Given the description of an element on the screen output the (x, y) to click on. 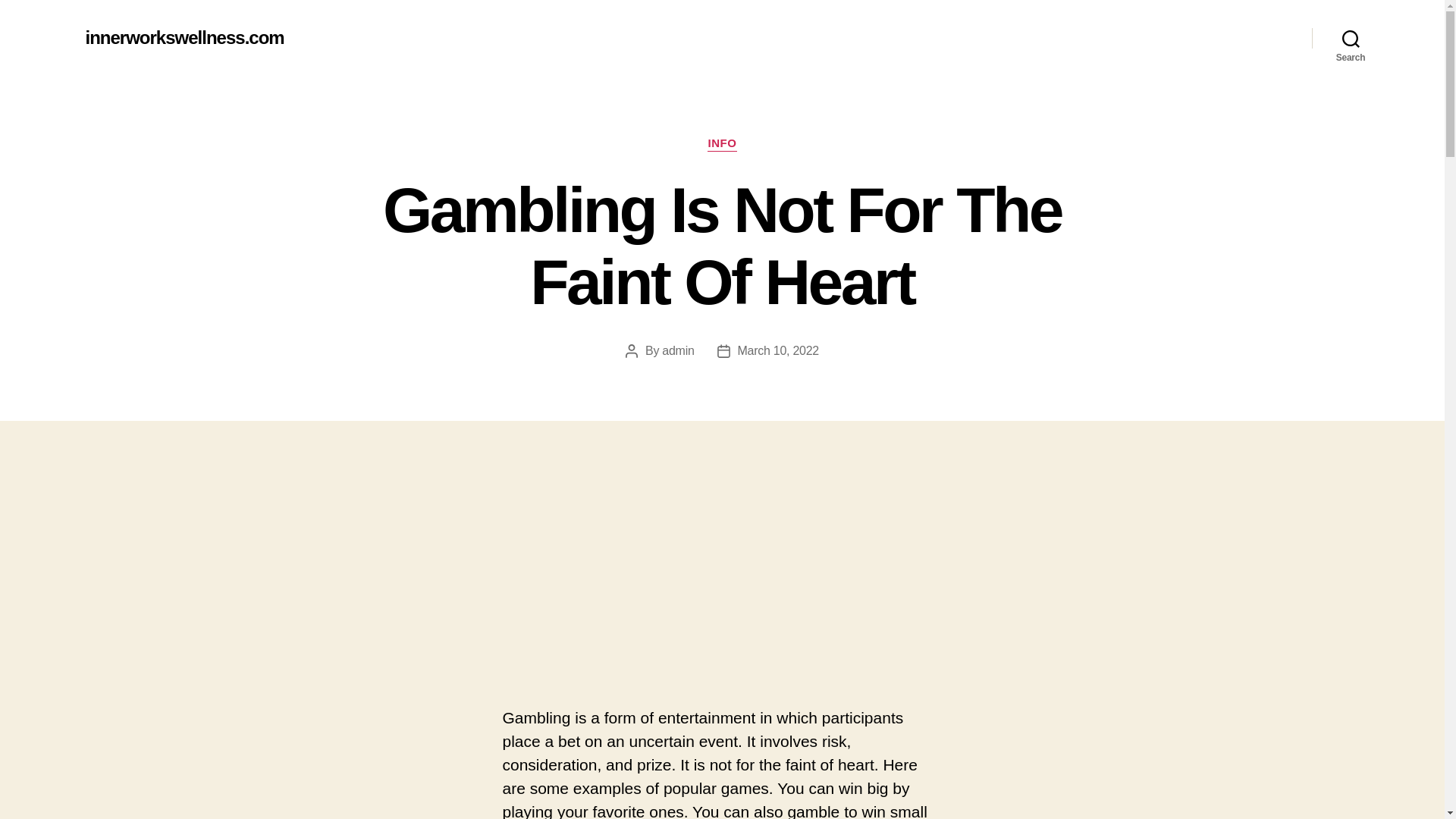
admin (678, 350)
March 10, 2022 (778, 350)
Search (1350, 37)
innerworkswellness.com (183, 37)
INFO (721, 143)
